Given the description of an element on the screen output the (x, y) to click on. 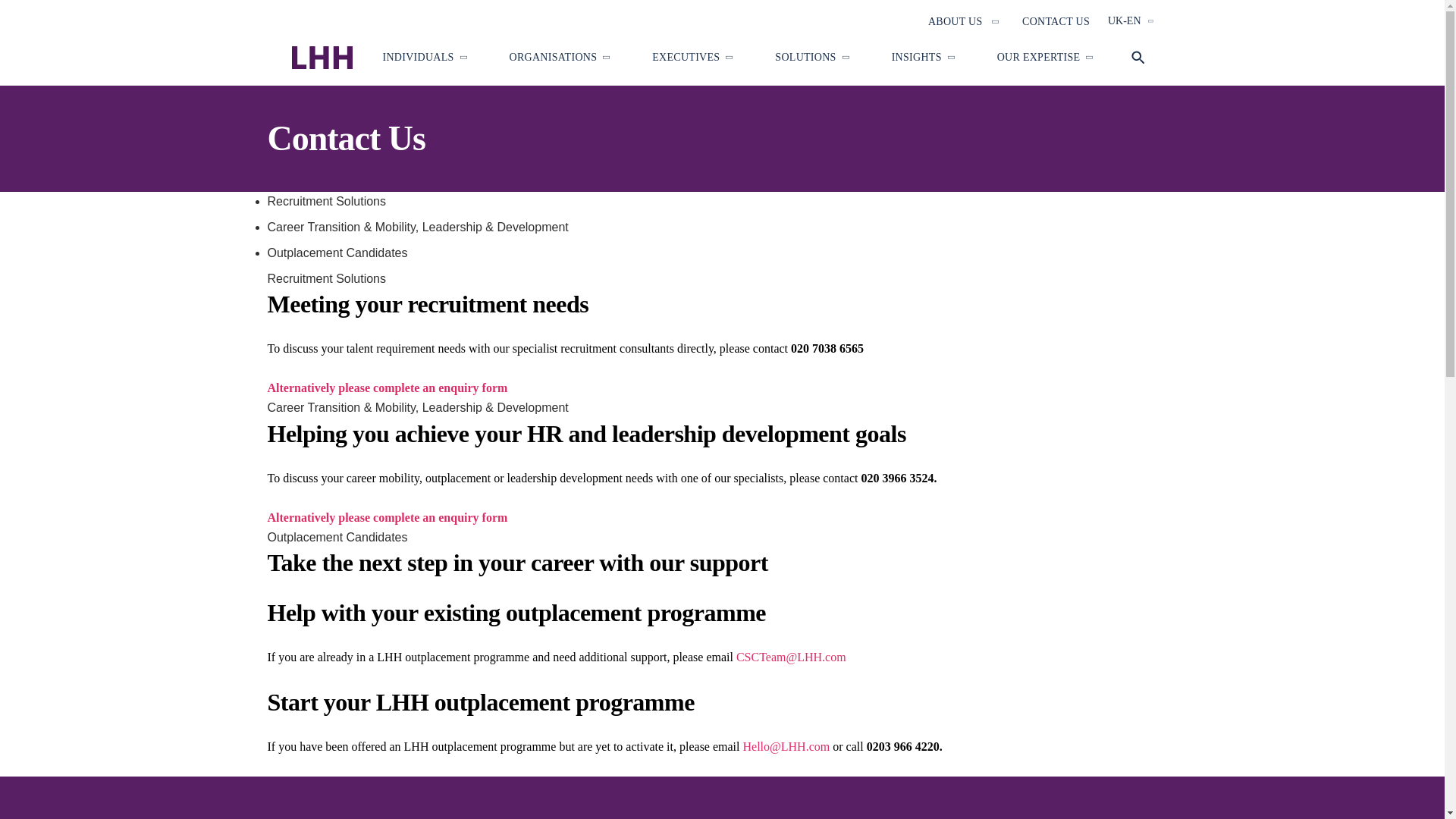
ABOUT US (955, 21)
INDIVIDUALS (416, 57)
UK-EN (1130, 21)
CONTACT US (1055, 21)
